Given the description of an element on the screen output the (x, y) to click on. 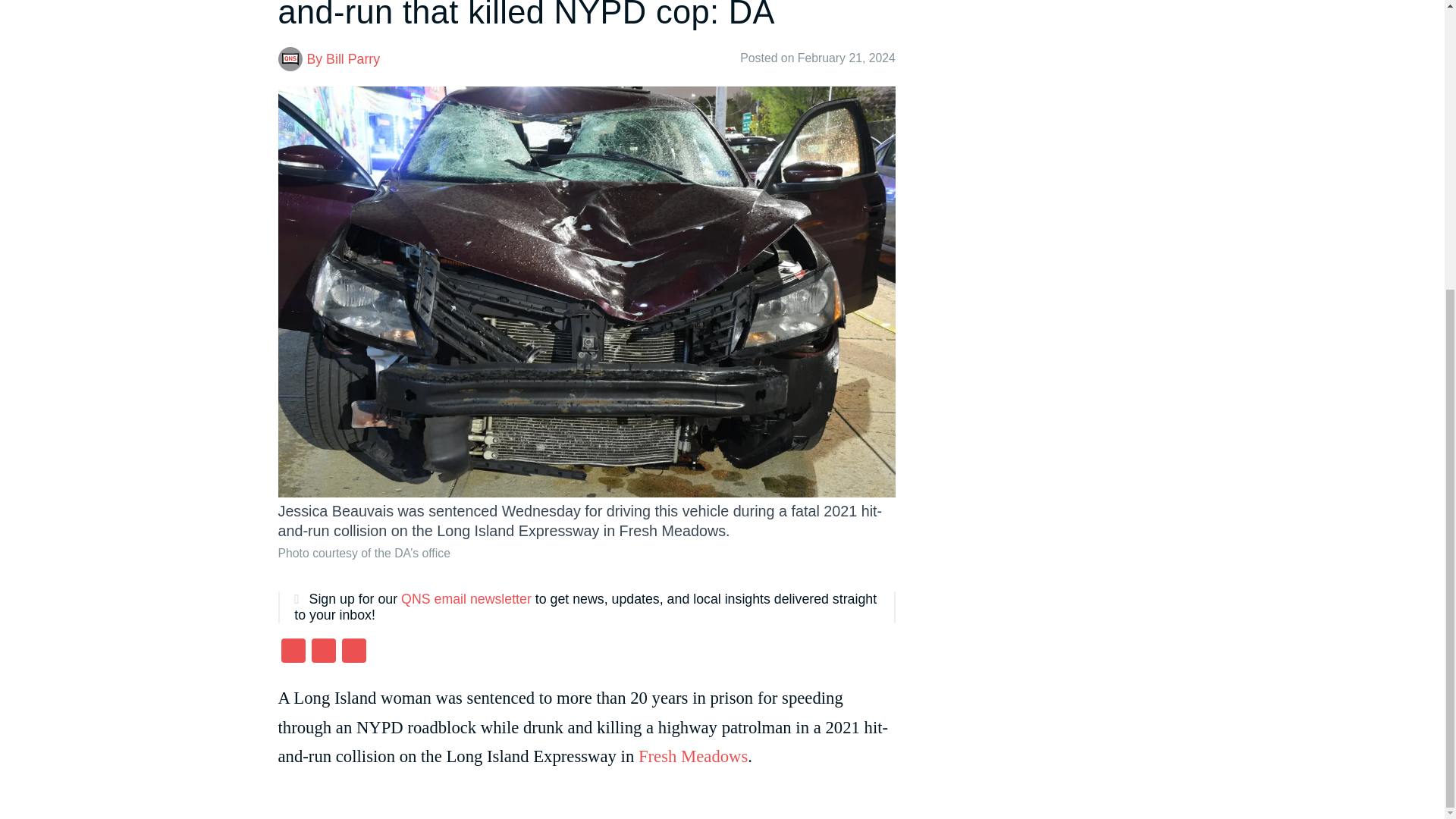
Posts by Bill Parry (353, 58)
Twitter (322, 652)
Facebook (292, 652)
